Given the description of an element on the screen output the (x, y) to click on. 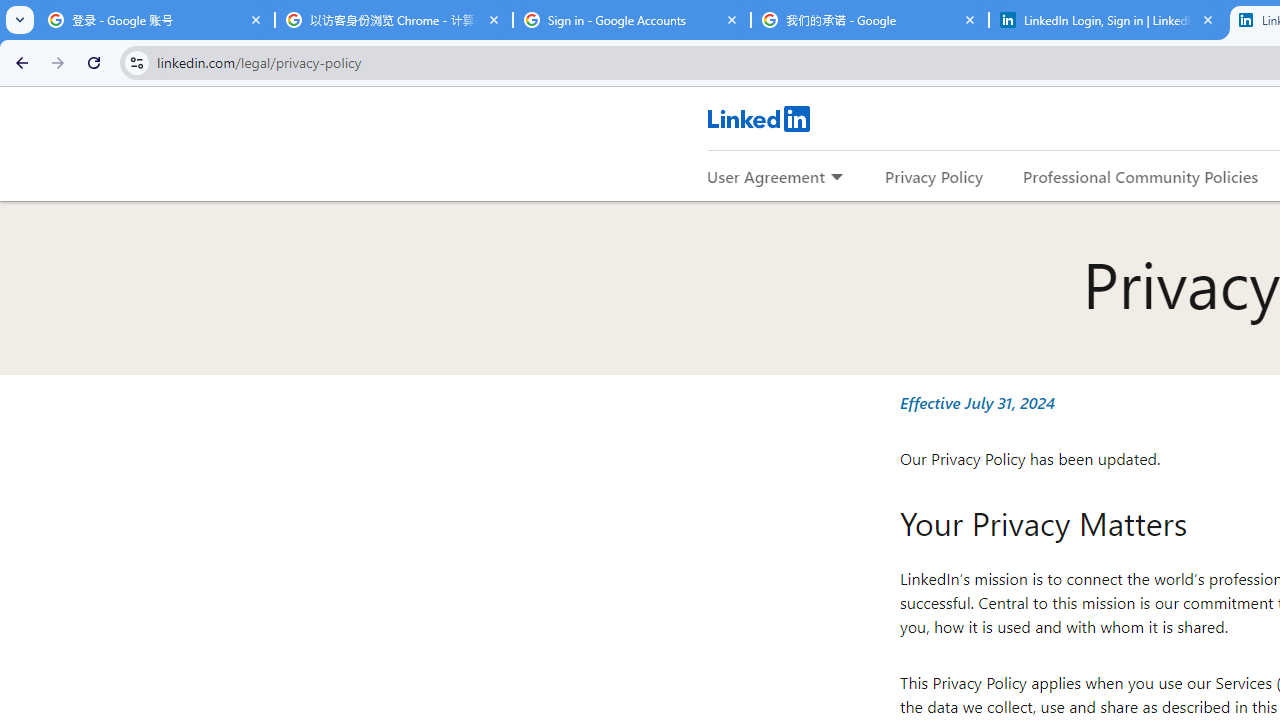
LinkedIn Logo (758, 118)
Sign in - Google Accounts (632, 20)
LinkedIn Login, Sign in | LinkedIn (1108, 20)
Effective July 31, 2024 (976, 402)
User Agreement (765, 176)
